Given the description of an element on the screen output the (x, y) to click on. 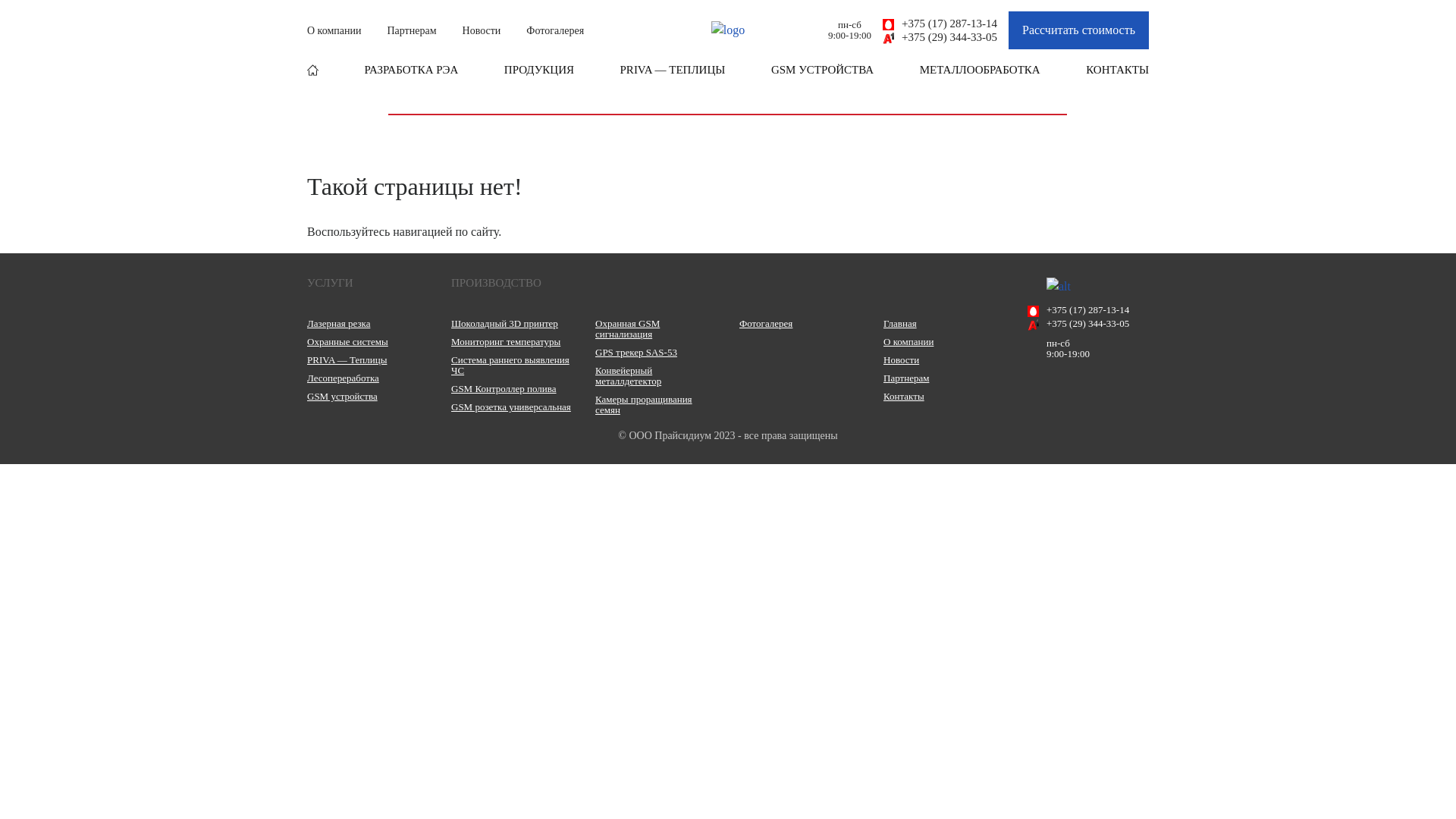
+375 (29) 344-33-05 Element type: text (1087, 323)
+375 (17) 287-13-14 Element type: text (939, 23)
+375 (17) 287-13-14 Element type: text (1087, 309)
+375 (29) 344-33-05 Element type: text (939, 36)
